Given the description of an element on the screen output the (x, y) to click on. 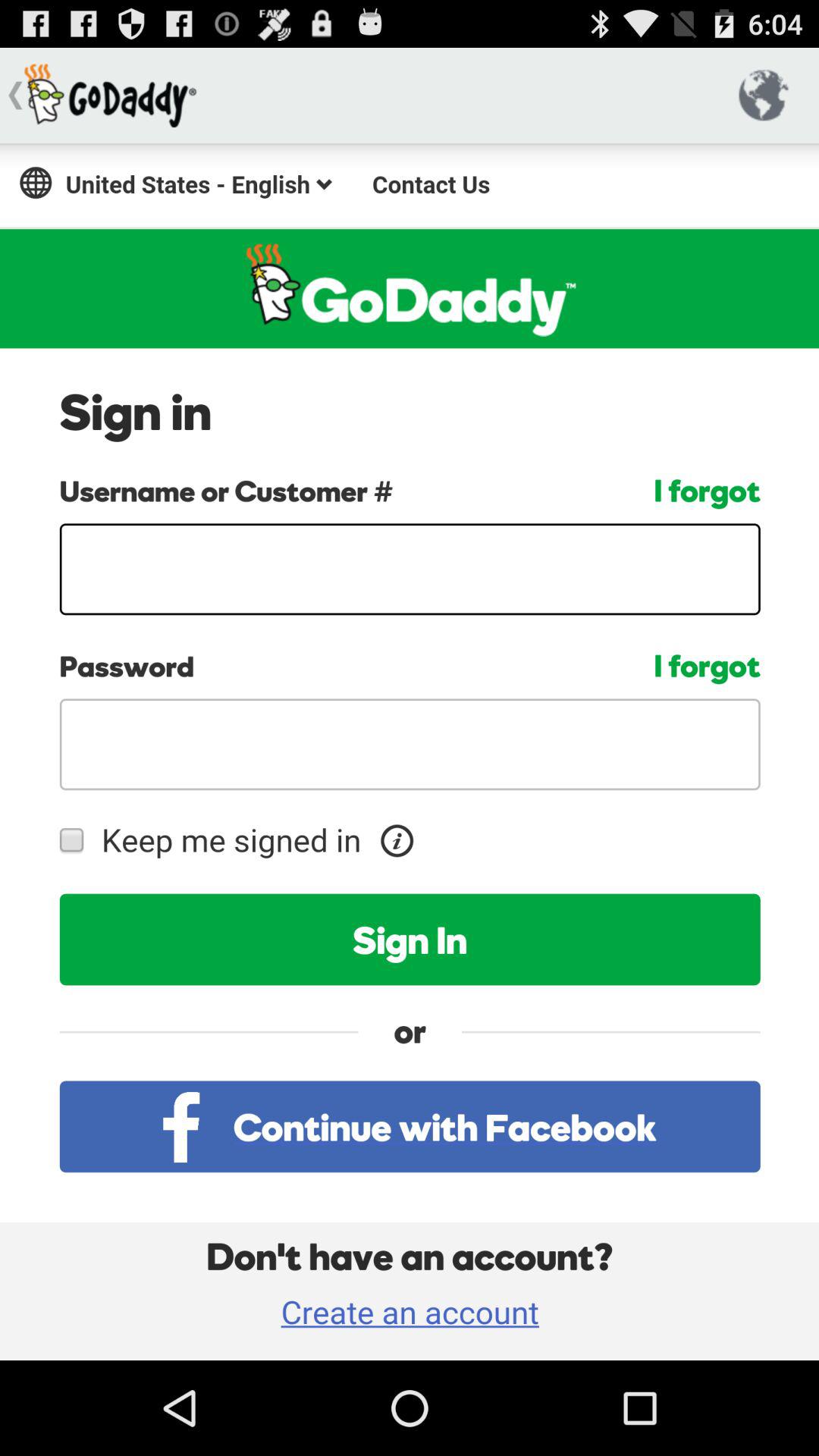
enter sign on information (409, 751)
